Given the description of an element on the screen output the (x, y) to click on. 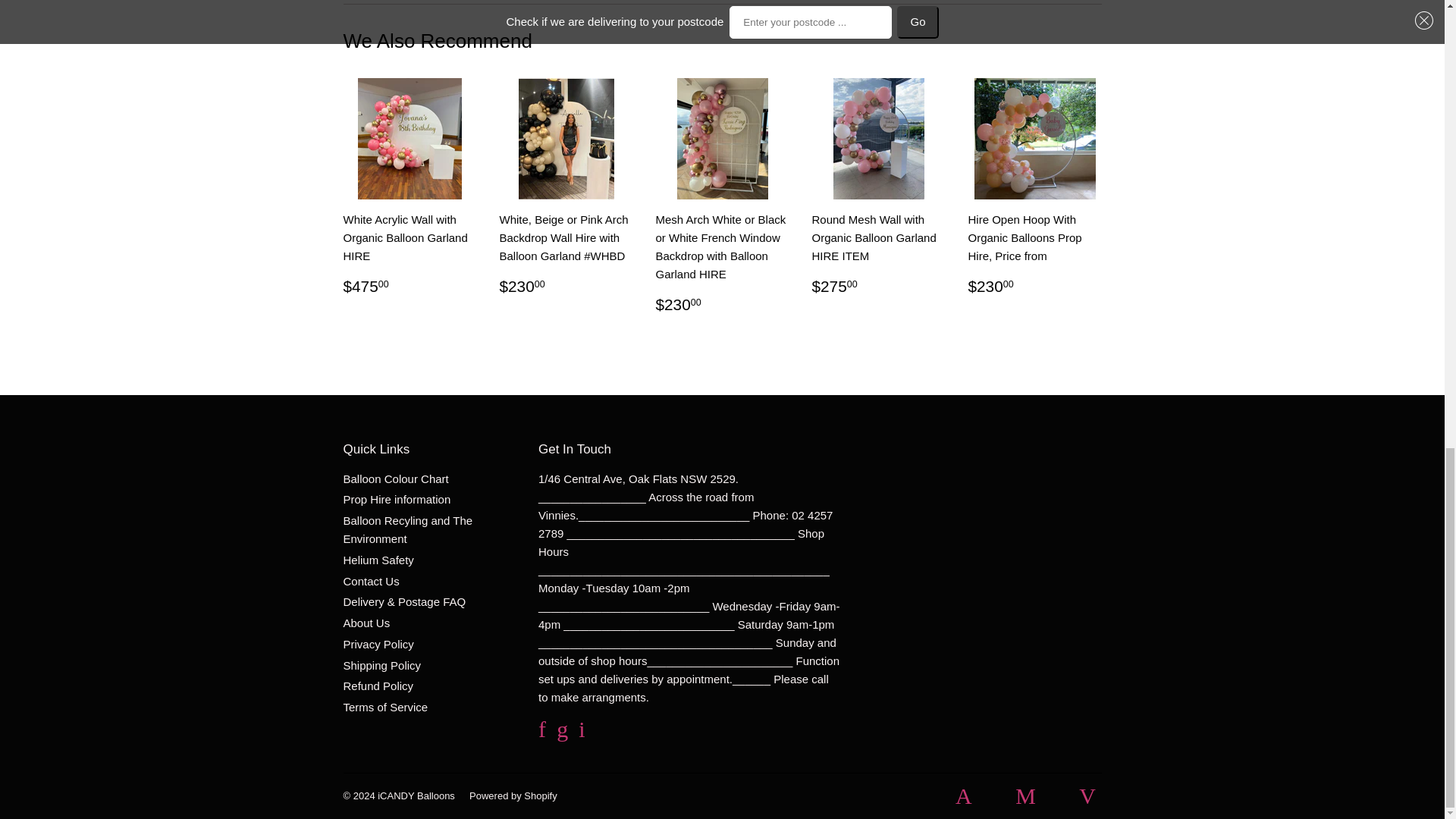
Contact Us (370, 581)
Terms of Service (385, 707)
About Us (366, 622)
Balloon Colour Chart (395, 478)
Privacy Policy (377, 644)
Helium Safety (377, 559)
Powered by Shopify (512, 795)
Refund Policy (377, 685)
Balloon Recyling and The Environment (406, 529)
Prop Hire information (395, 499)
Shipping Policy (381, 665)
